Given the description of an element on the screen output the (x, y) to click on. 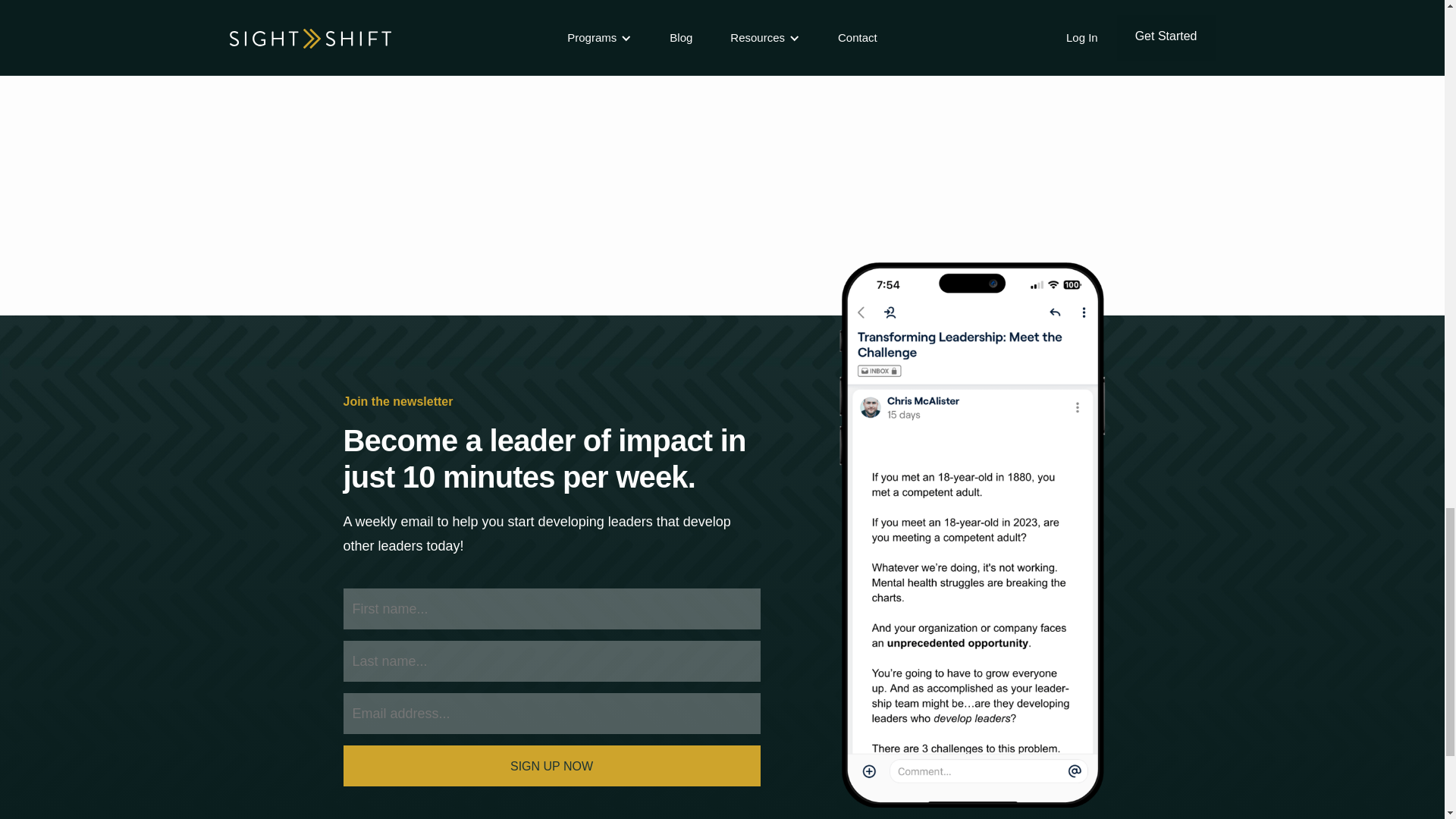
SIGN UP NOW (551, 765)
